Given the description of an element on the screen output the (x, y) to click on. 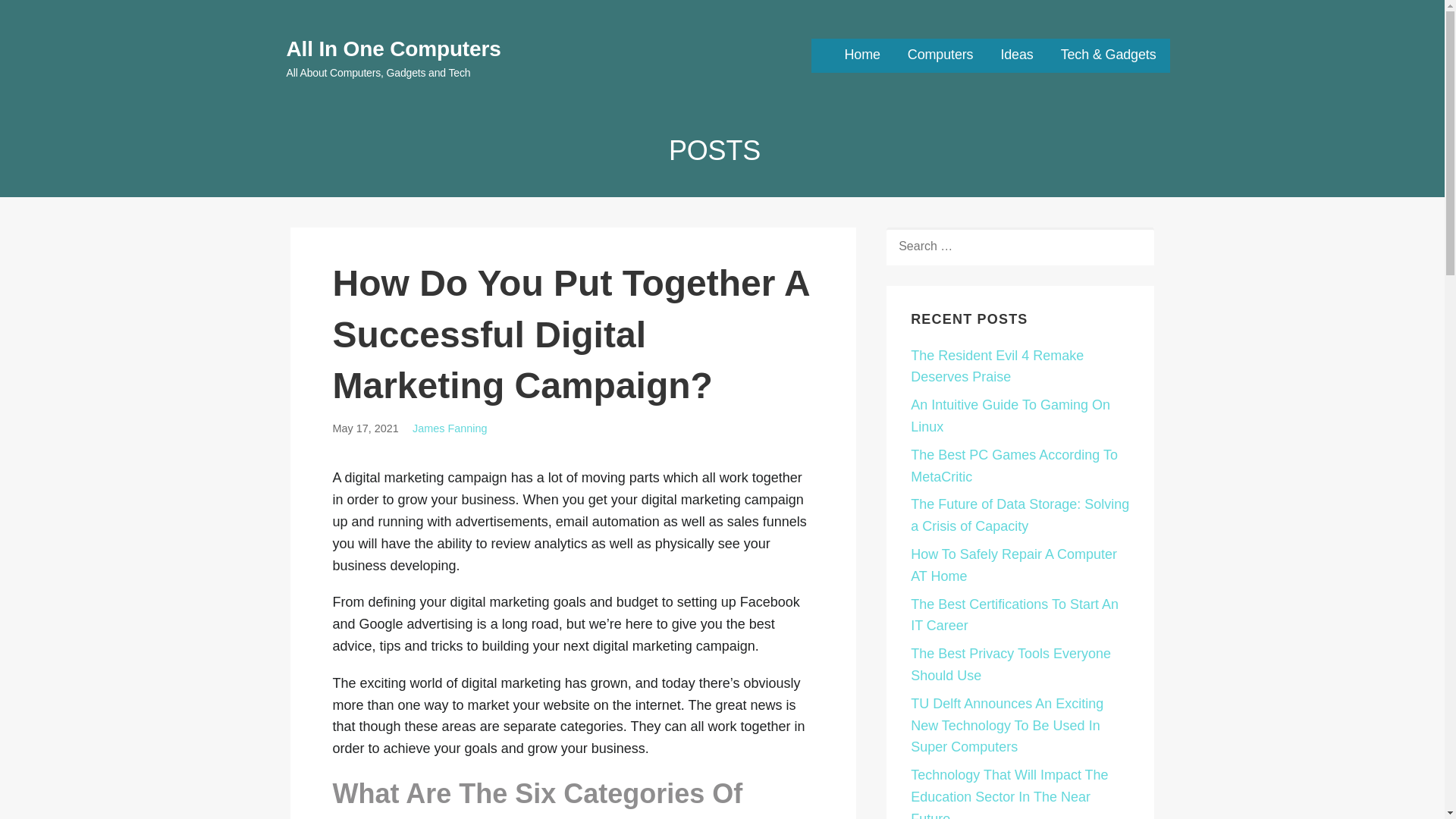
Posts by James Fanning (449, 428)
Ideas (1016, 55)
Search (47, 17)
An Intuitive Guide To Gaming On Linux (1010, 415)
How To Safely Repair A Computer AT Home (1013, 565)
The Future of Data Storage: Solving a Crisis of Capacity (1020, 514)
The Best Certifications To Start An IT Career (1014, 615)
Computers (940, 55)
The Best PC Games According To MetaCritic (1014, 465)
